Given the description of an element on the screen output the (x, y) to click on. 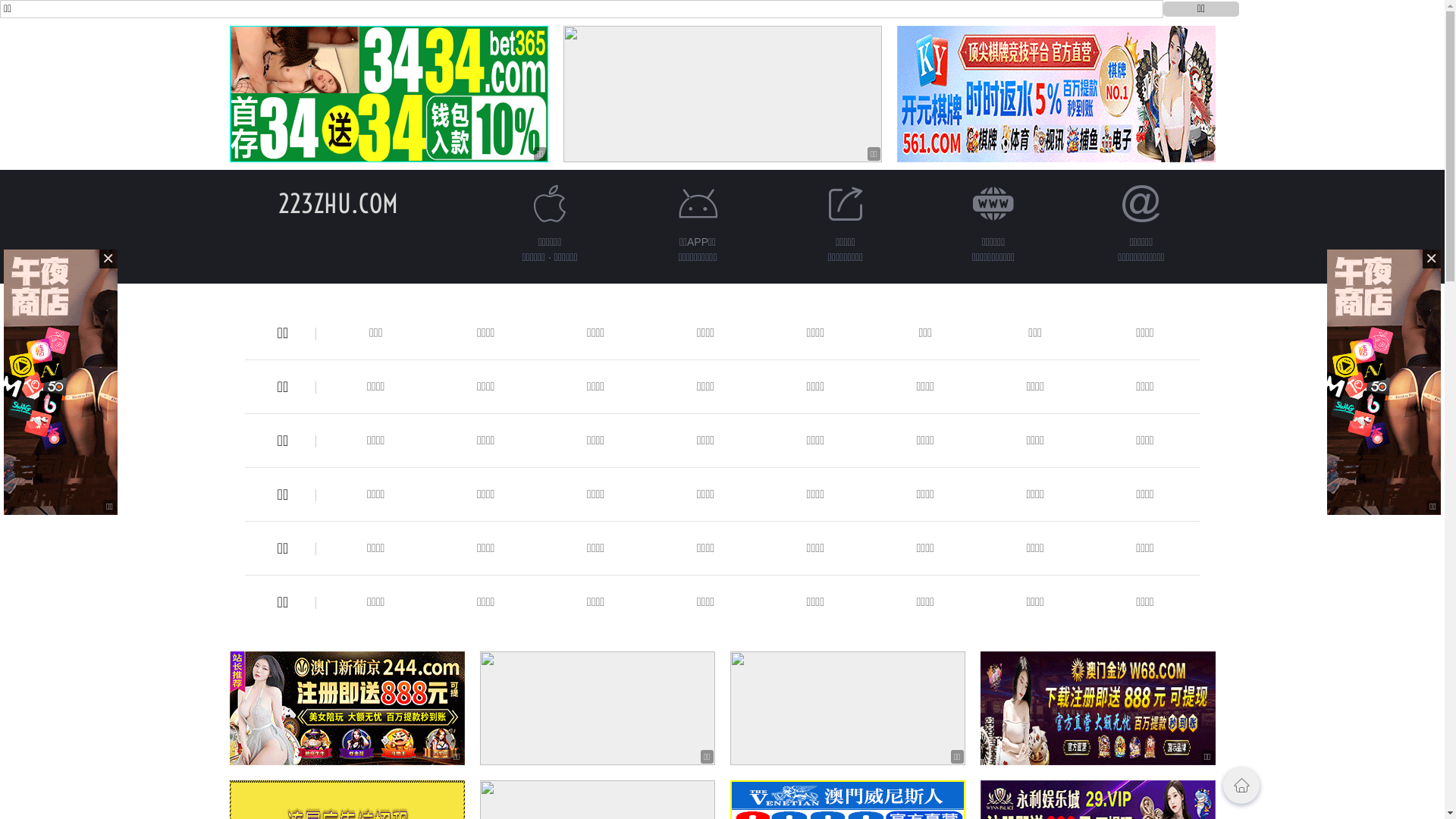
223ZHU.COM Element type: text (337, 203)
